Given the description of an element on the screen output the (x, y) to click on. 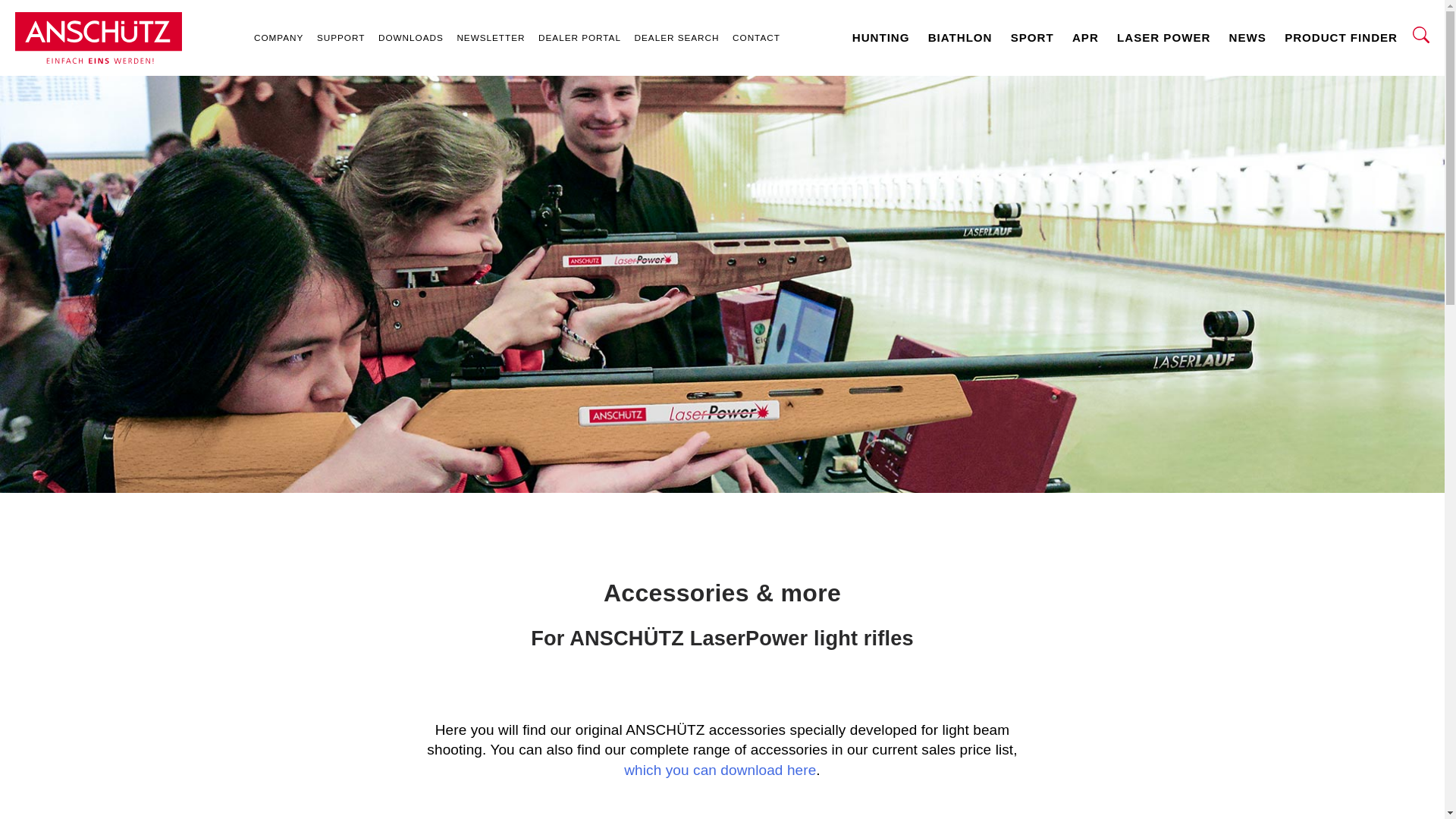
DEALER PORTAL (579, 37)
COMPANY (278, 37)
DEALER SEARCH (676, 37)
CONTACT (755, 37)
HUNTING (880, 37)
DOWNLOADS (410, 37)
SUPPORT (340, 37)
NEWSLETTER (490, 37)
